Given the description of an element on the screen output the (x, y) to click on. 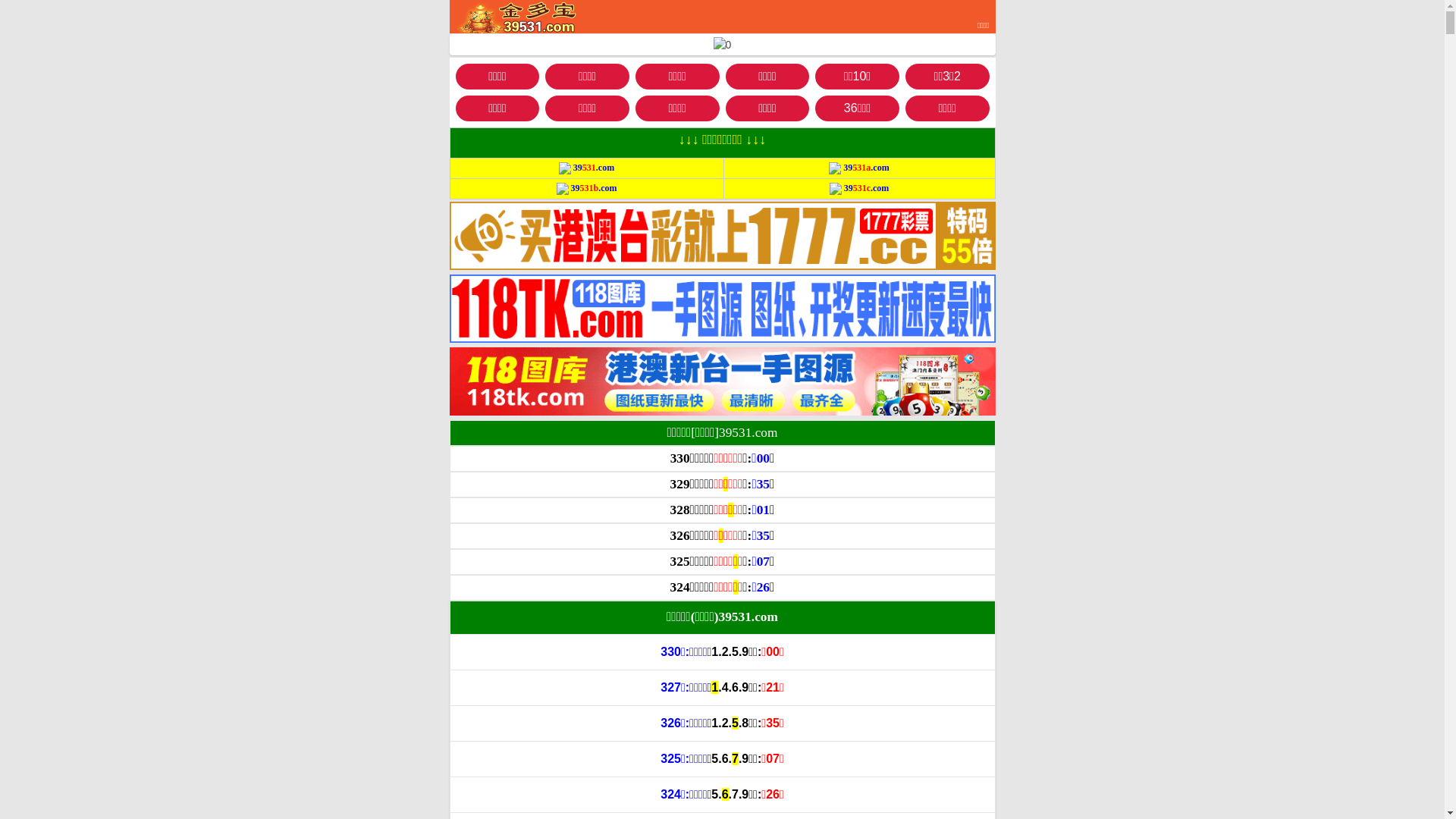
0 Element type: hover (722, 45)
